Given the description of an element on the screen output the (x, y) to click on. 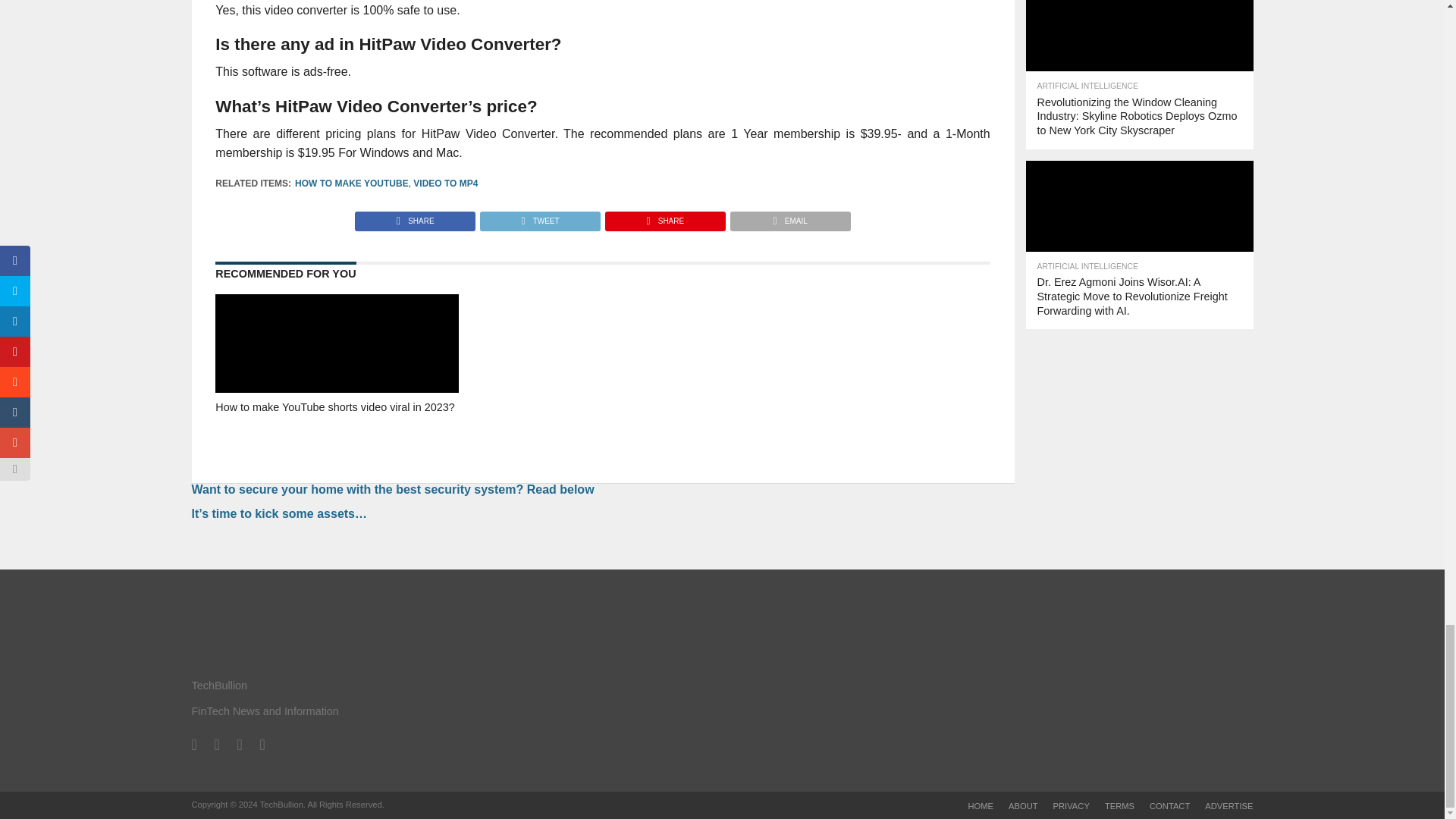
Pin This Post (664, 216)
How to make YouTube shorts video viral in 2023? (336, 435)
Share on Facebook (415, 216)
Tweet This Post (539, 216)
